Given the description of an element on the screen output the (x, y) to click on. 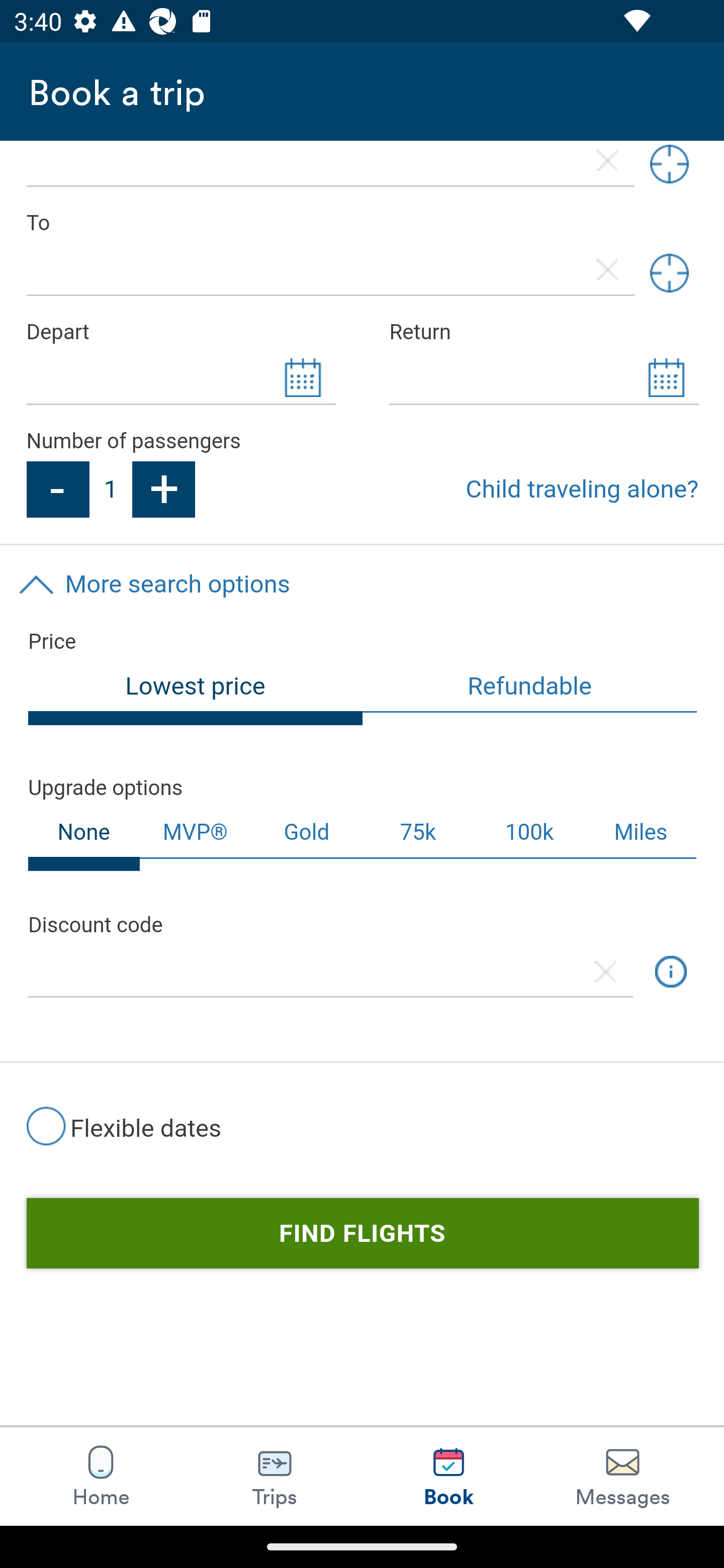
Geolocation (669, 166)
Geolocation (669, 273)
Depart (179, 332)
Return (544, 332)
- (56, 489)
+ (163, 489)
Child traveling alone? (582, 489)
More search options (362, 584)
Lowest price (196, 693)
Refundable (530, 687)
None (84, 839)
MVP® (195, 833)
Gold (306, 833)
75k (417, 833)
100k (528, 833)
Miles (641, 833)
Find Flights (362, 1233)
Home (100, 1475)
Trips (275, 1475)
Book (448, 1475)
Messages (622, 1475)
